Given the description of an element on the screen output the (x, y) to click on. 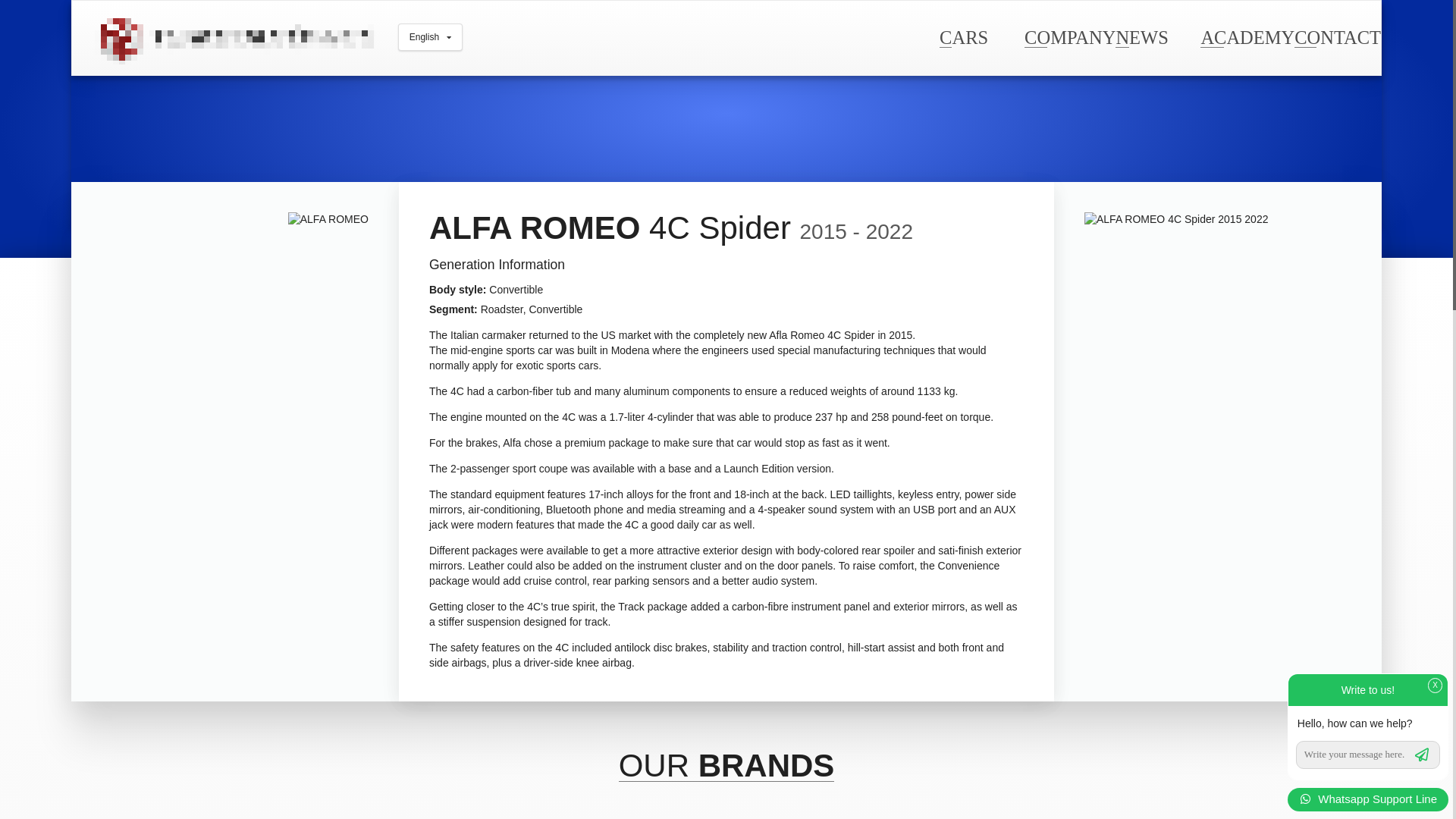
COMPANY (1070, 37)
CARS (963, 37)
NEWS (1141, 37)
ACADEMY (1246, 37)
CONTACT (1337, 37)
